Given the description of an element on the screen output the (x, y) to click on. 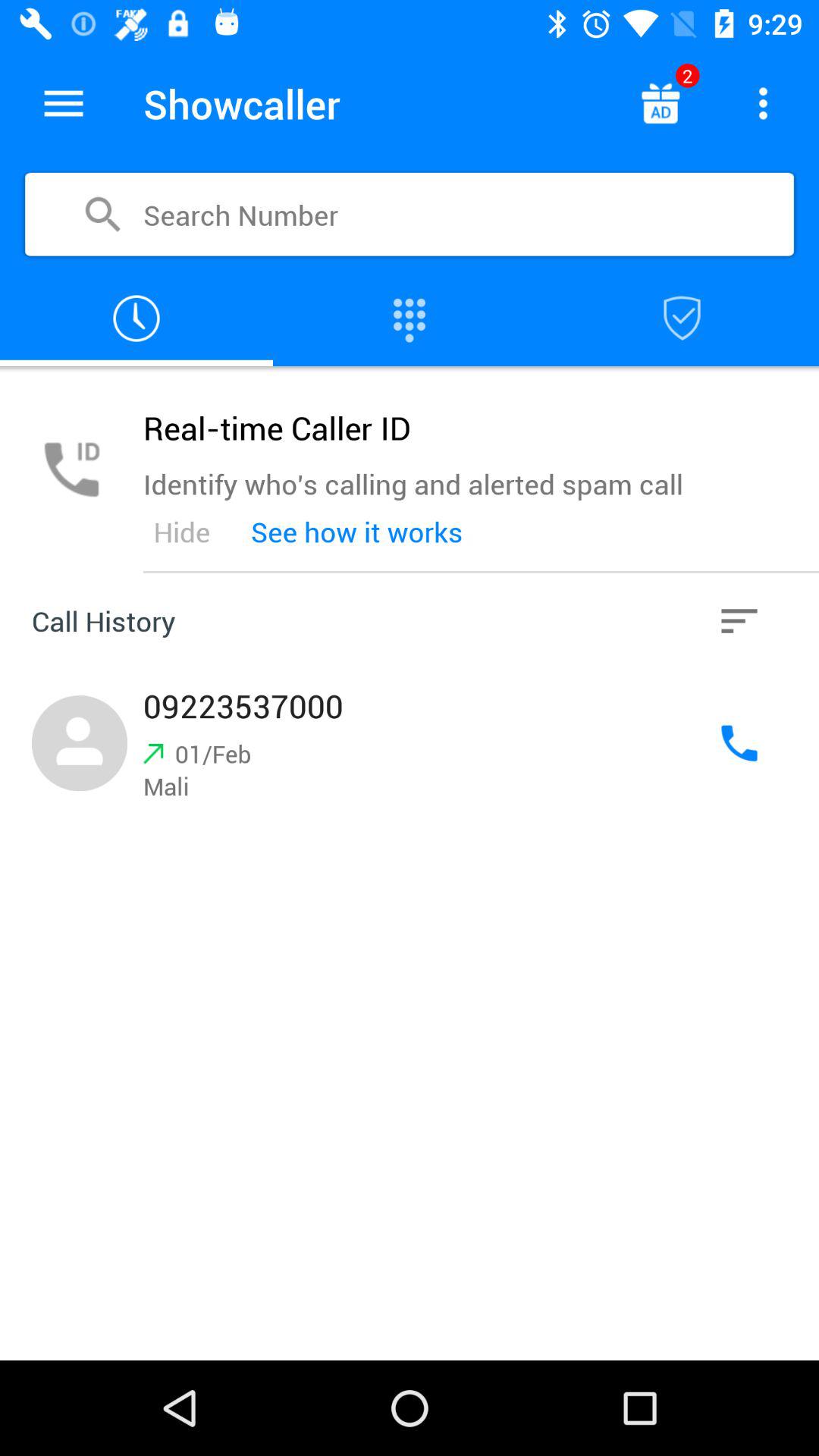
open keypad (409, 318)
